Given the description of an element on the screen output the (x, y) to click on. 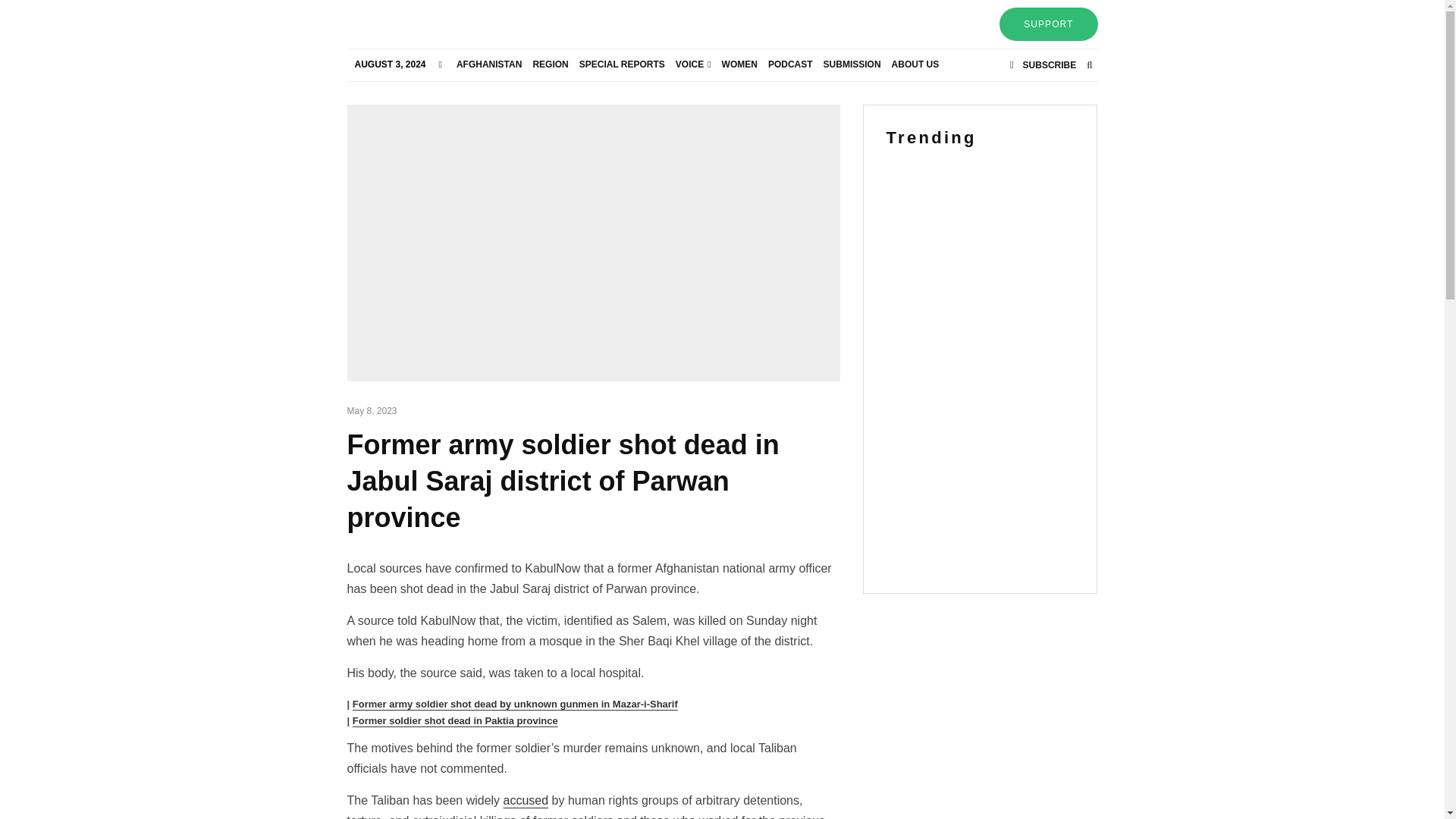
AFGHANISTAN (489, 64)
SPECIAL REPORTS (621, 64)
REGION (550, 64)
SUPPORT (1047, 23)
